Given the description of an element on the screen output the (x, y) to click on. 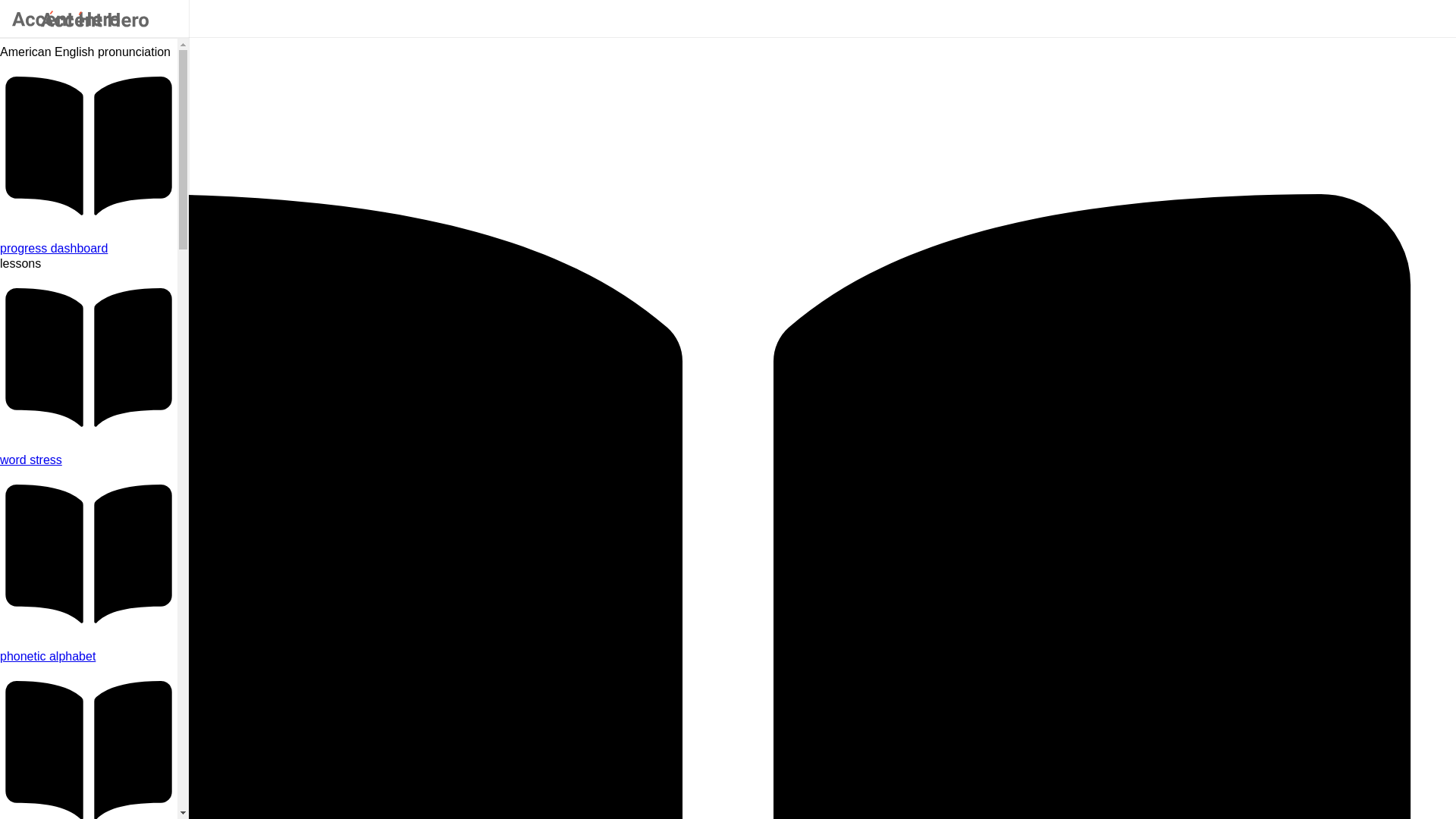
Learn how word stress influences your accent (88, 459)
Learn to precisely articulate each sound (88, 656)
